Given the description of an element on the screen output the (x, y) to click on. 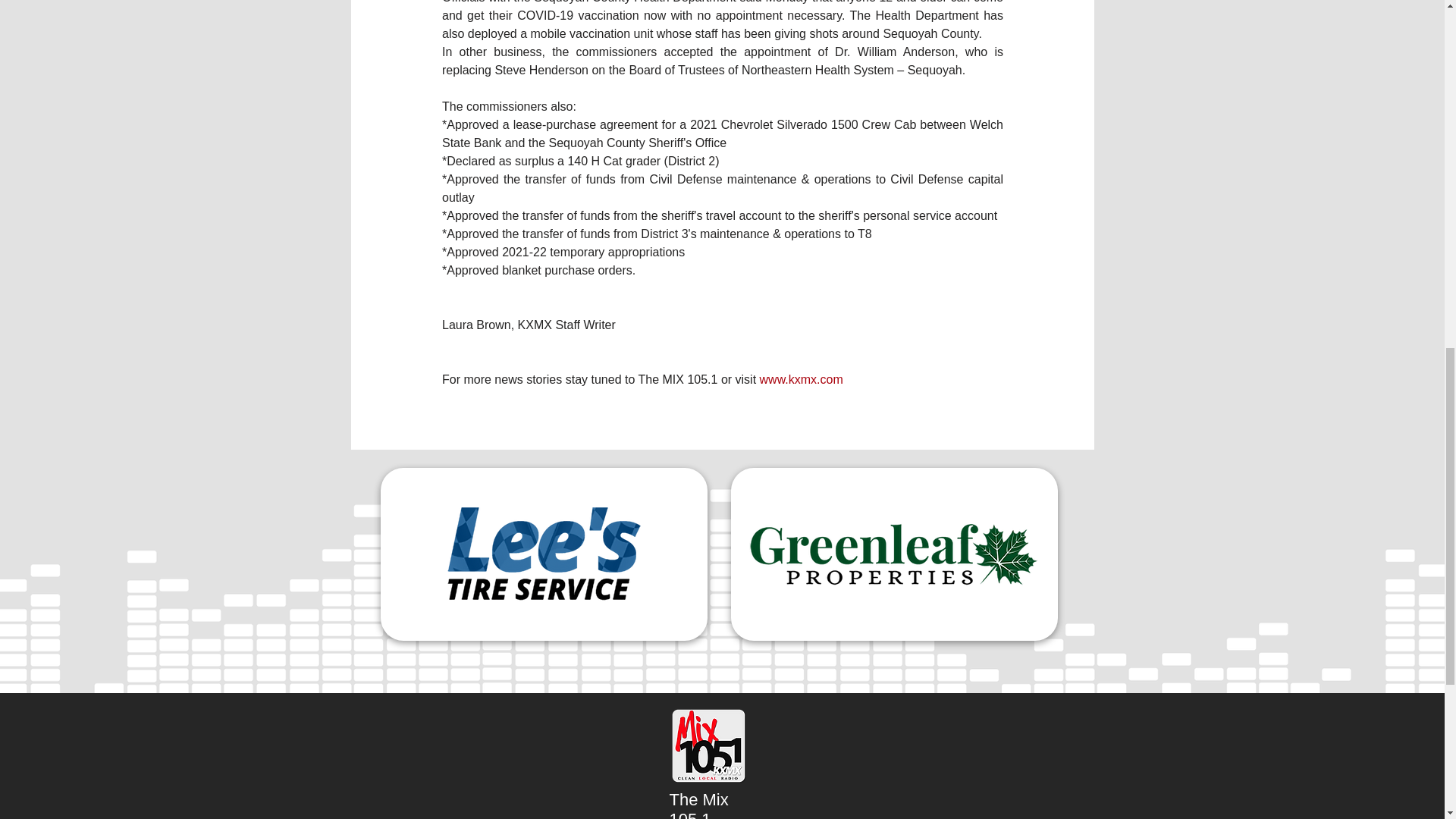
 www.kxmx.com (799, 379)
